Given the description of an element on the screen output the (x, y) to click on. 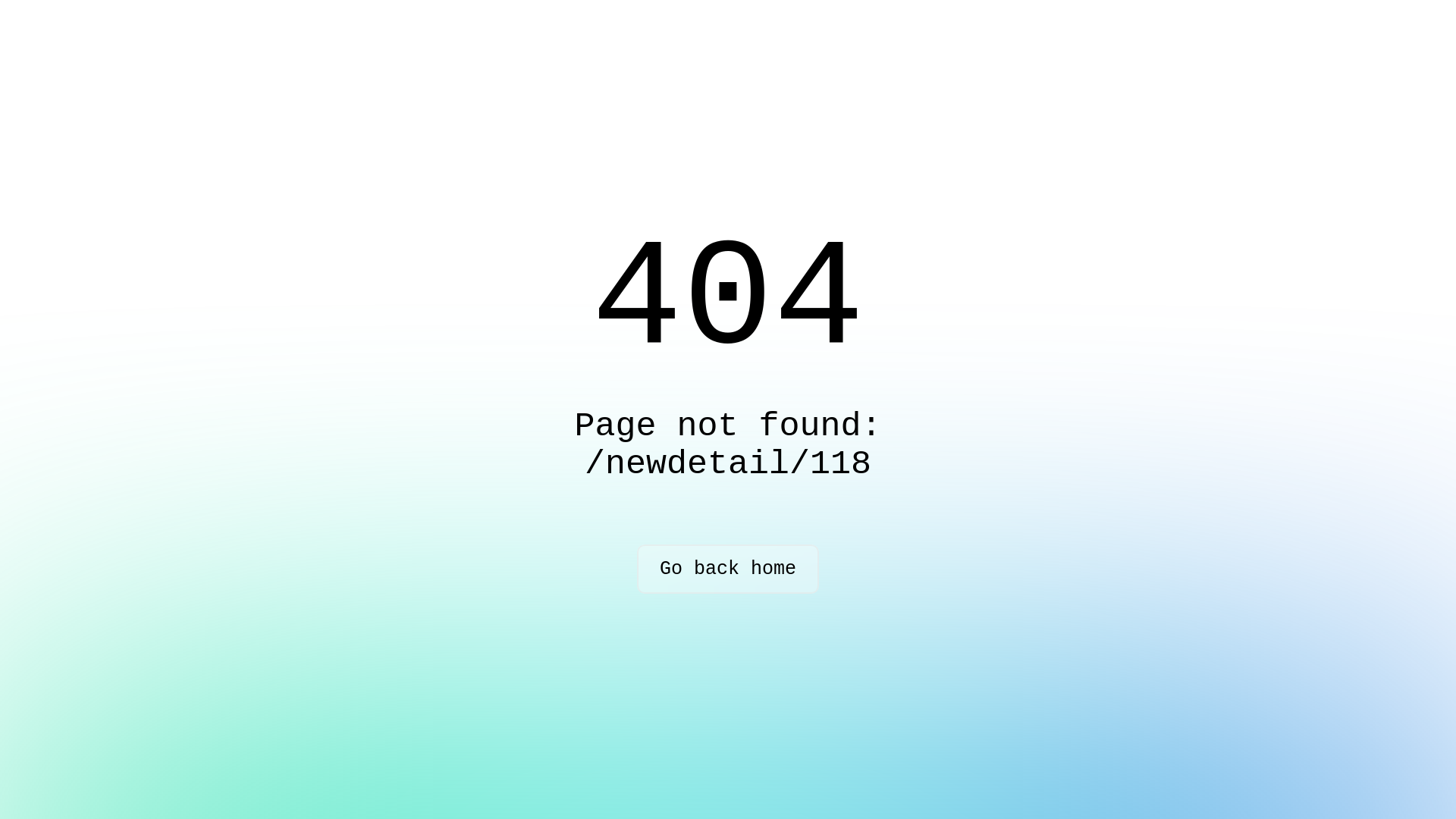
Go back home Element type: text (728, 568)
